Given the description of an element on the screen output the (x, y) to click on. 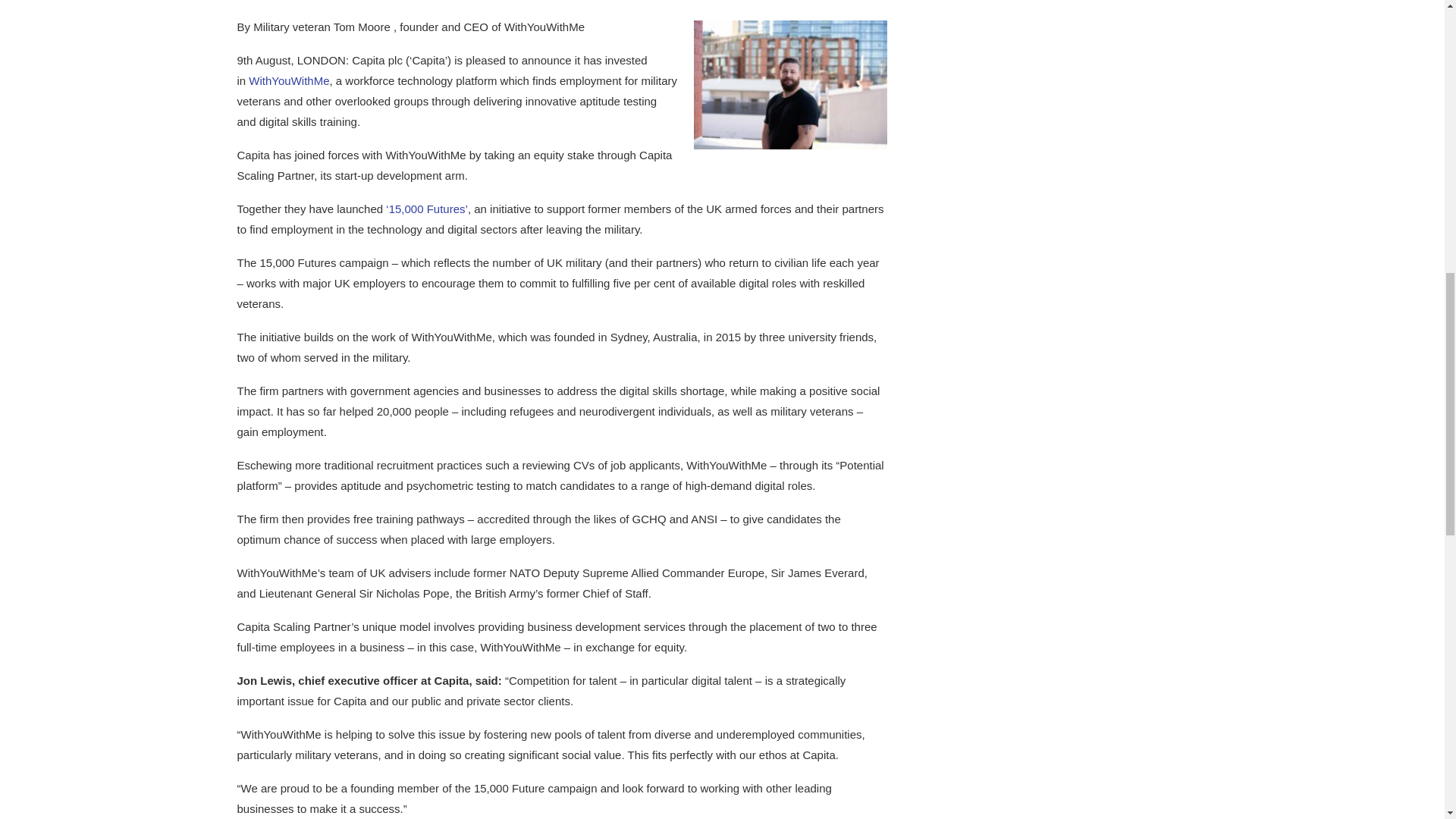
WithYouWithMe (288, 80)
